Given the description of an element on the screen output the (x, y) to click on. 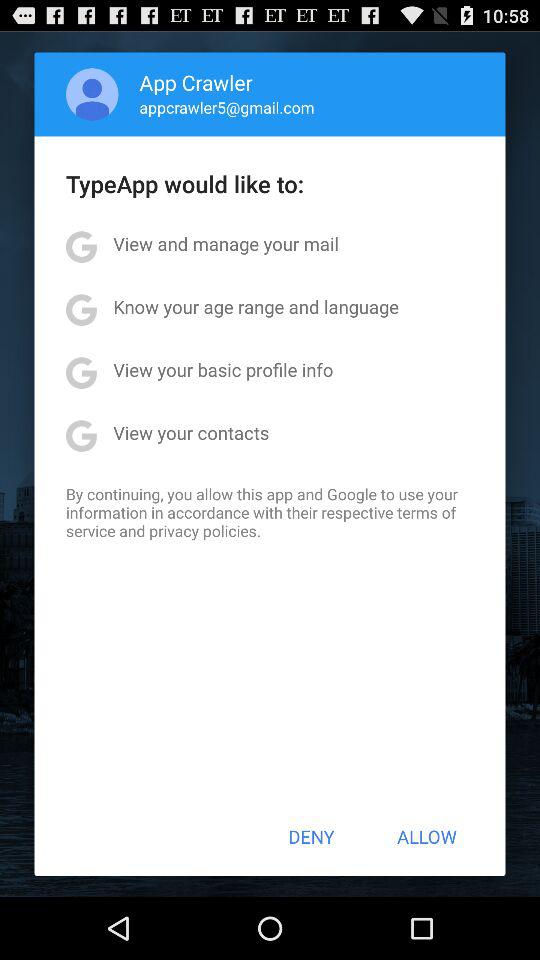
tap the app above know your age (225, 243)
